Given the description of an element on the screen output the (x, y) to click on. 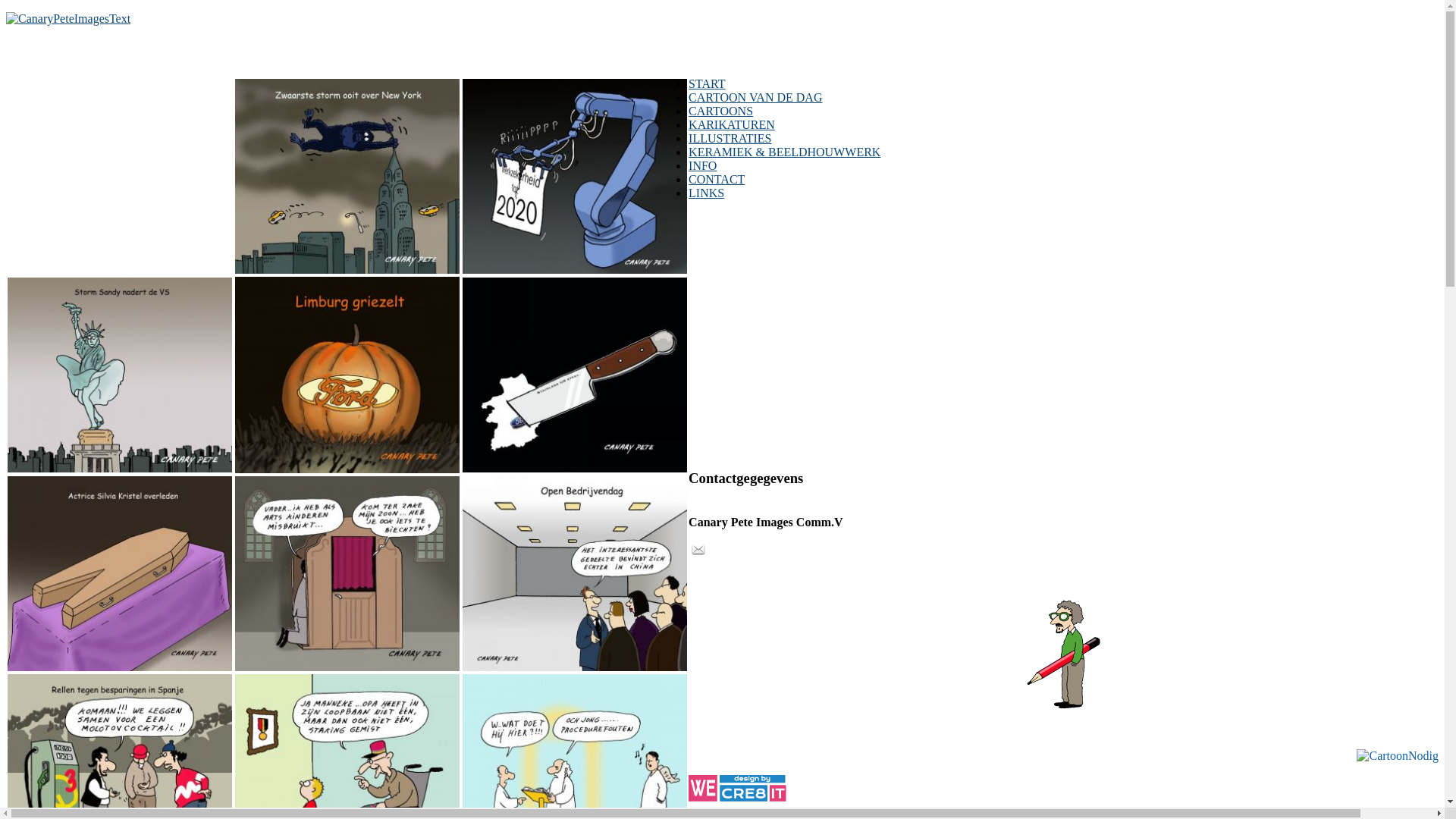
KARIKATUREN Element type: text (731, 124)
ILLUSTRATIES Element type: text (729, 137)
START Element type: text (706, 83)
CARTOONS Element type: text (720, 110)
CONTACT Element type: text (716, 178)
CARTOON VAN DE DAG Element type: text (755, 97)
LINKS Element type: text (706, 192)
INFO Element type: text (702, 165)
KERAMIEK & BEELDHOUWWERK Element type: text (784, 151)
